Given the description of an element on the screen output the (x, y) to click on. 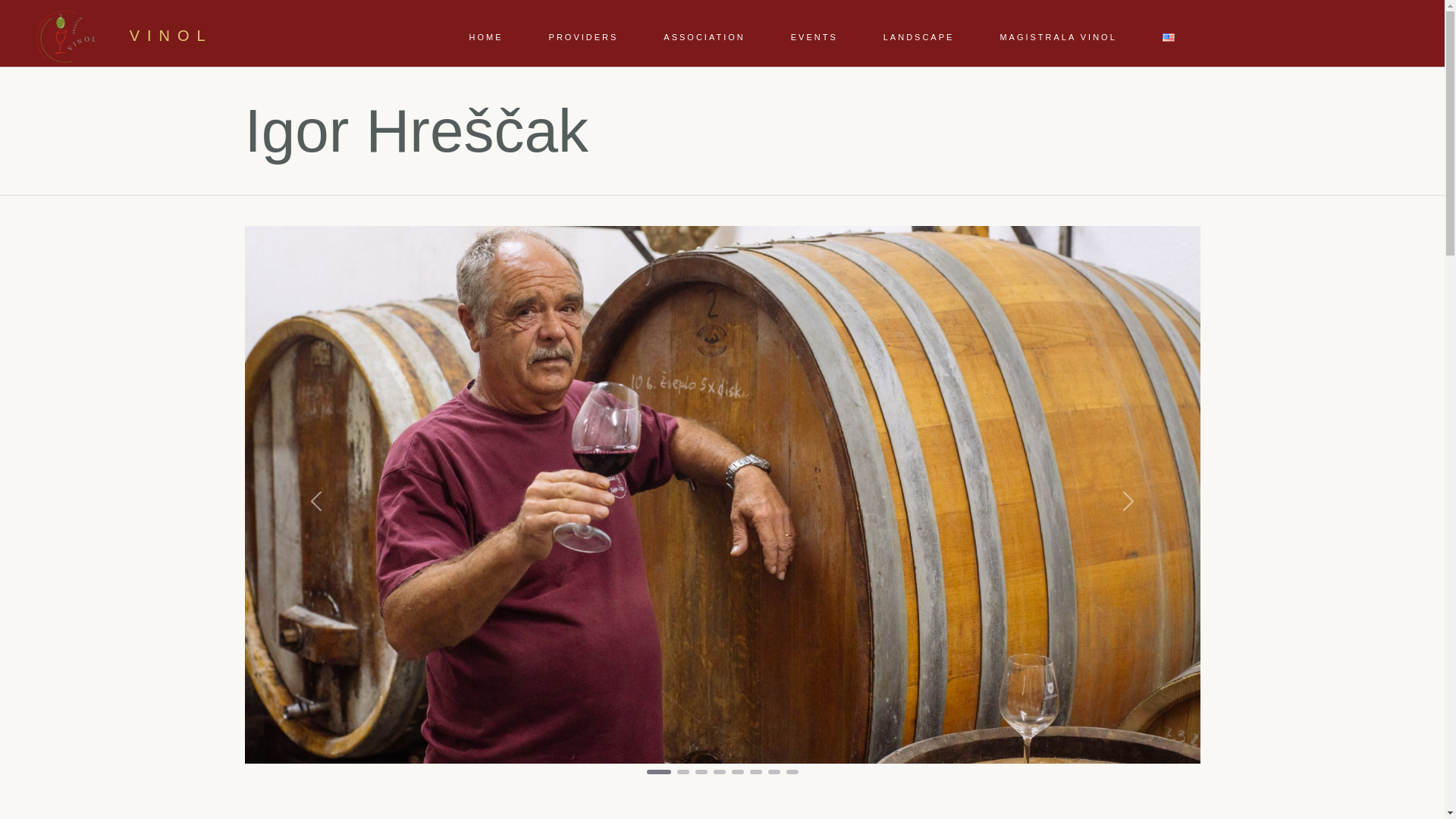
ASSOCIATION (703, 36)
HOME (486, 36)
PROVIDERS (583, 36)
EVENTS (813, 36)
LANDSCAPE (919, 36)
MAGISTRALA VINOL (1057, 36)
